Given the description of an element on the screen output the (x, y) to click on. 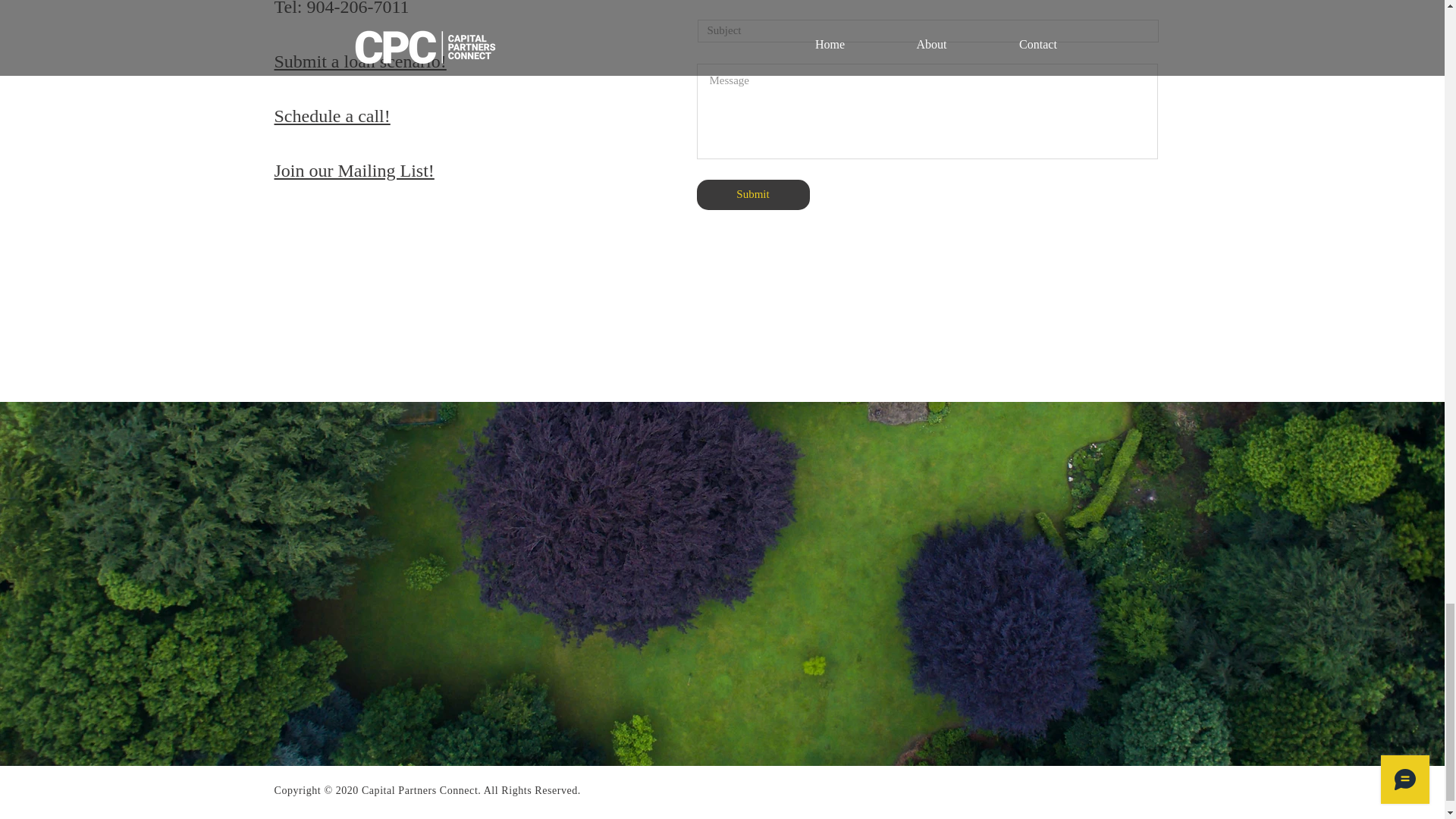
Schedule a call! (332, 115)
Join our Mailing List! (354, 169)
Submit (752, 194)
Submit a loan scenario! (360, 60)
